Given the description of an element on the screen output the (x, y) to click on. 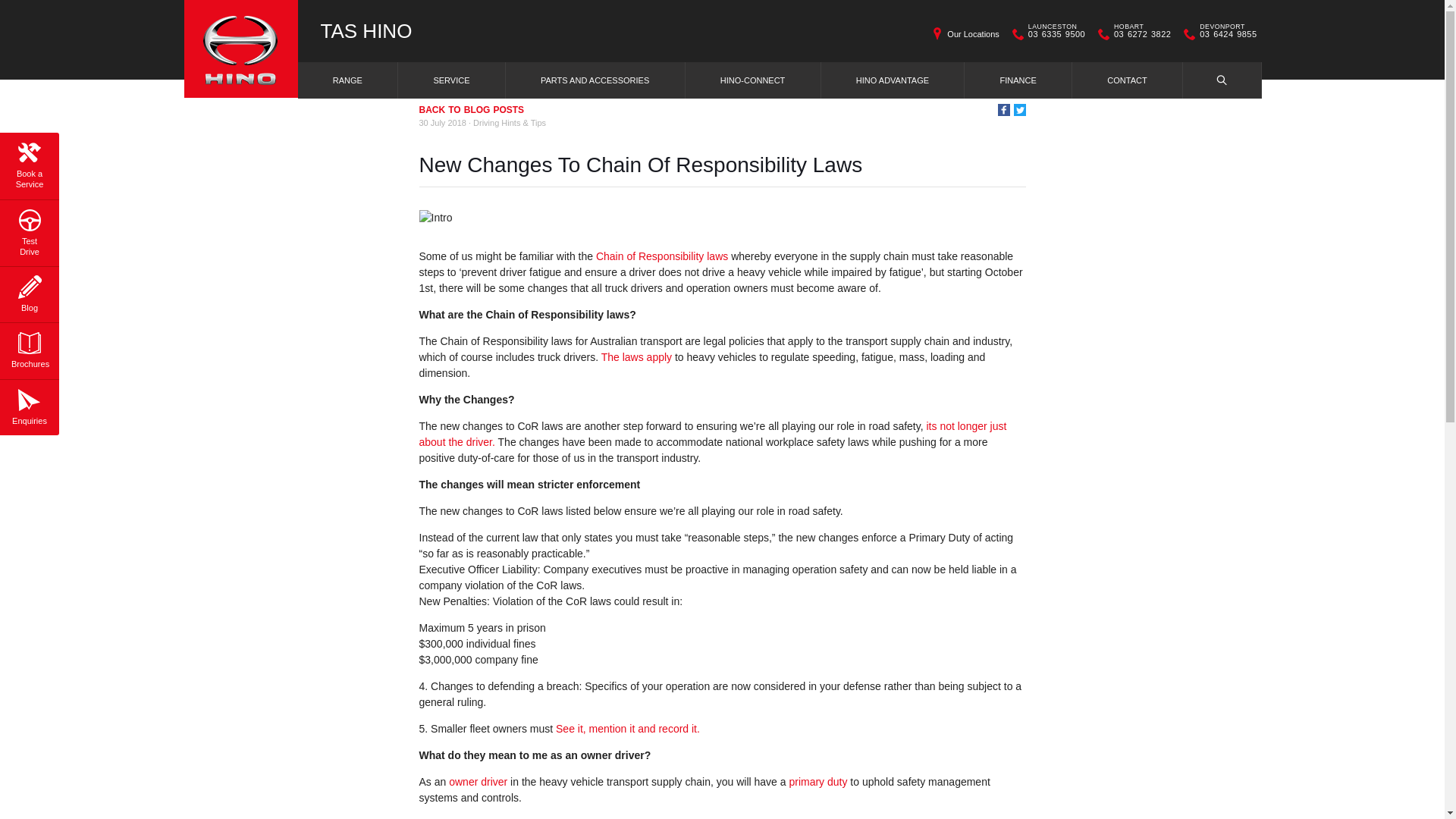
Twitter (1019, 110)
RANGE (348, 80)
TAS HINO (366, 31)
SERVICE (451, 80)
Brochures (28, 347)
Facebook (1003, 110)
TAS Hino (366, 31)
Enquiries (28, 404)
Blog (28, 291)
TAS Hino (240, 48)
